Given the description of an element on the screen output the (x, y) to click on. 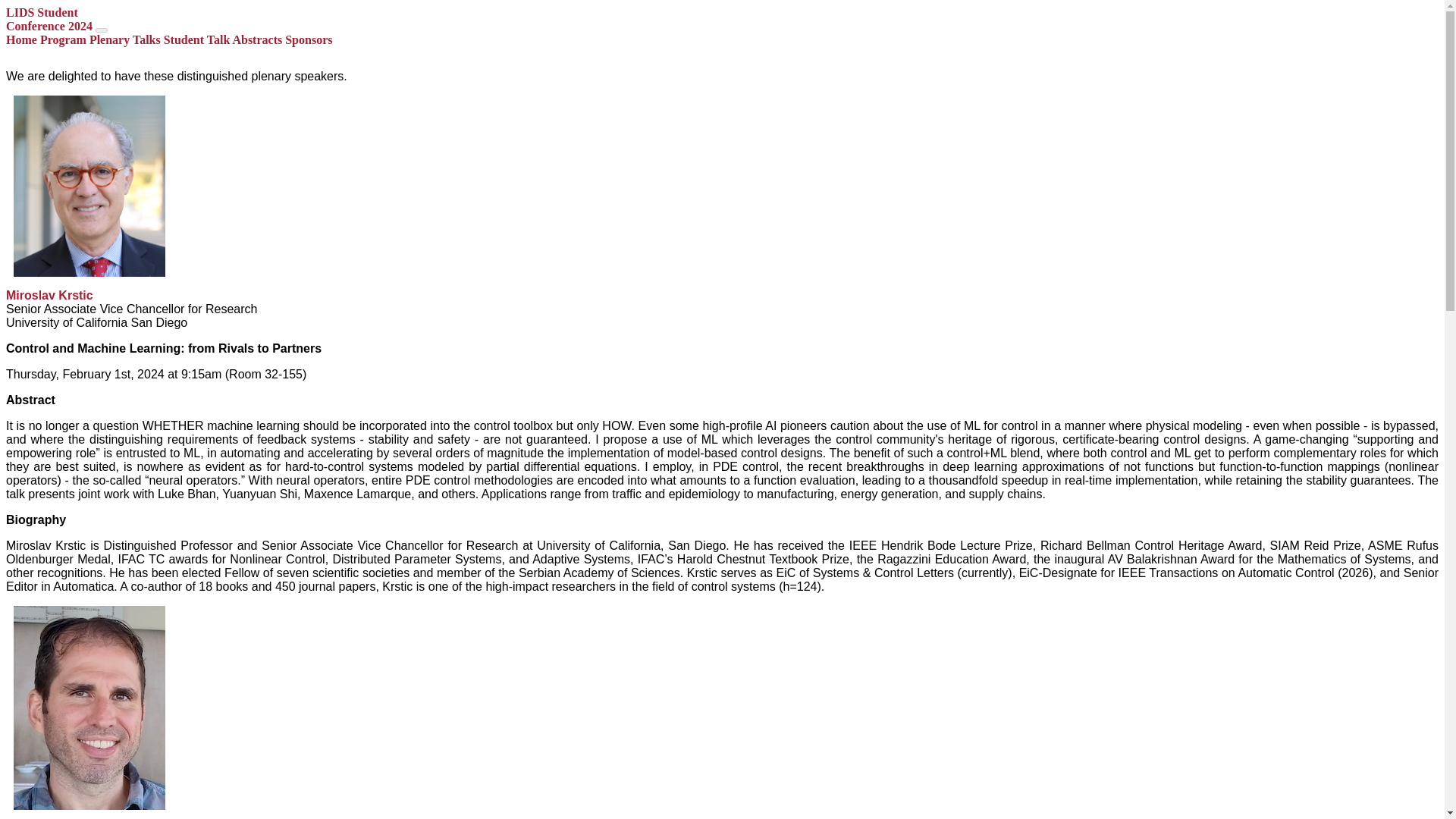
Home (21, 39)
Program (62, 39)
Student Talk Abstracts (222, 39)
Miroslav Krstic (49, 18)
Sponsors (49, 295)
Plenary Talks (308, 39)
